Given the description of an element on the screen output the (x, y) to click on. 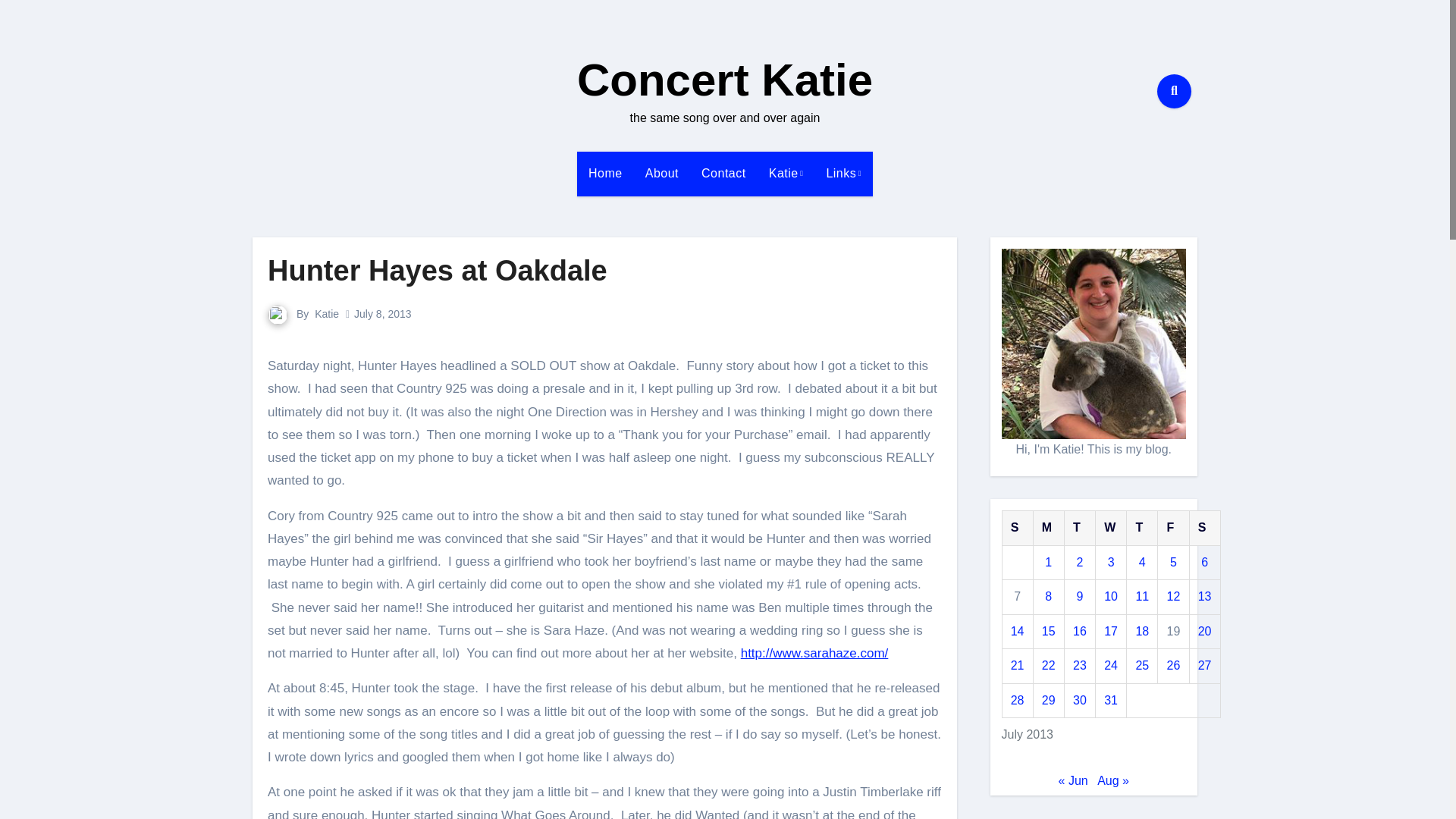
Monday (1048, 528)
Concert Katie (724, 79)
Home (604, 173)
Sunday (1016, 528)
Katie (326, 313)
Wednesday (1111, 528)
Permalink to: Hunter Hayes at Oakdale (437, 270)
Contact (723, 173)
Tuesday (1079, 528)
July 8, 2013 (382, 313)
